Given the description of an element on the screen output the (x, y) to click on. 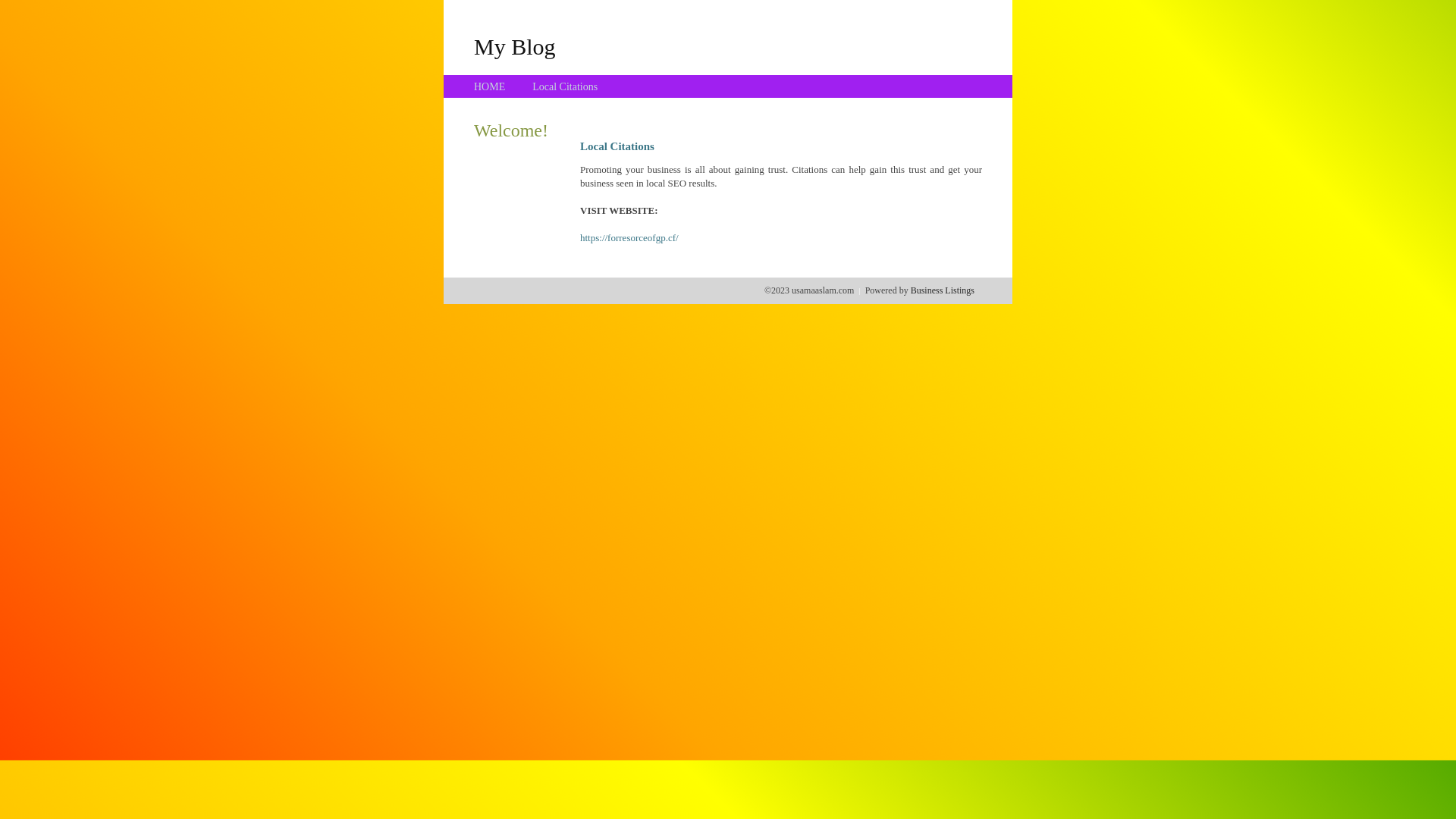
HOME Element type: text (489, 86)
My Blog Element type: text (514, 46)
Local Citations Element type: text (564, 86)
https://forresorceofgp.cf/ Element type: text (629, 237)
Business Listings Element type: text (942, 290)
